Given the description of an element on the screen output the (x, y) to click on. 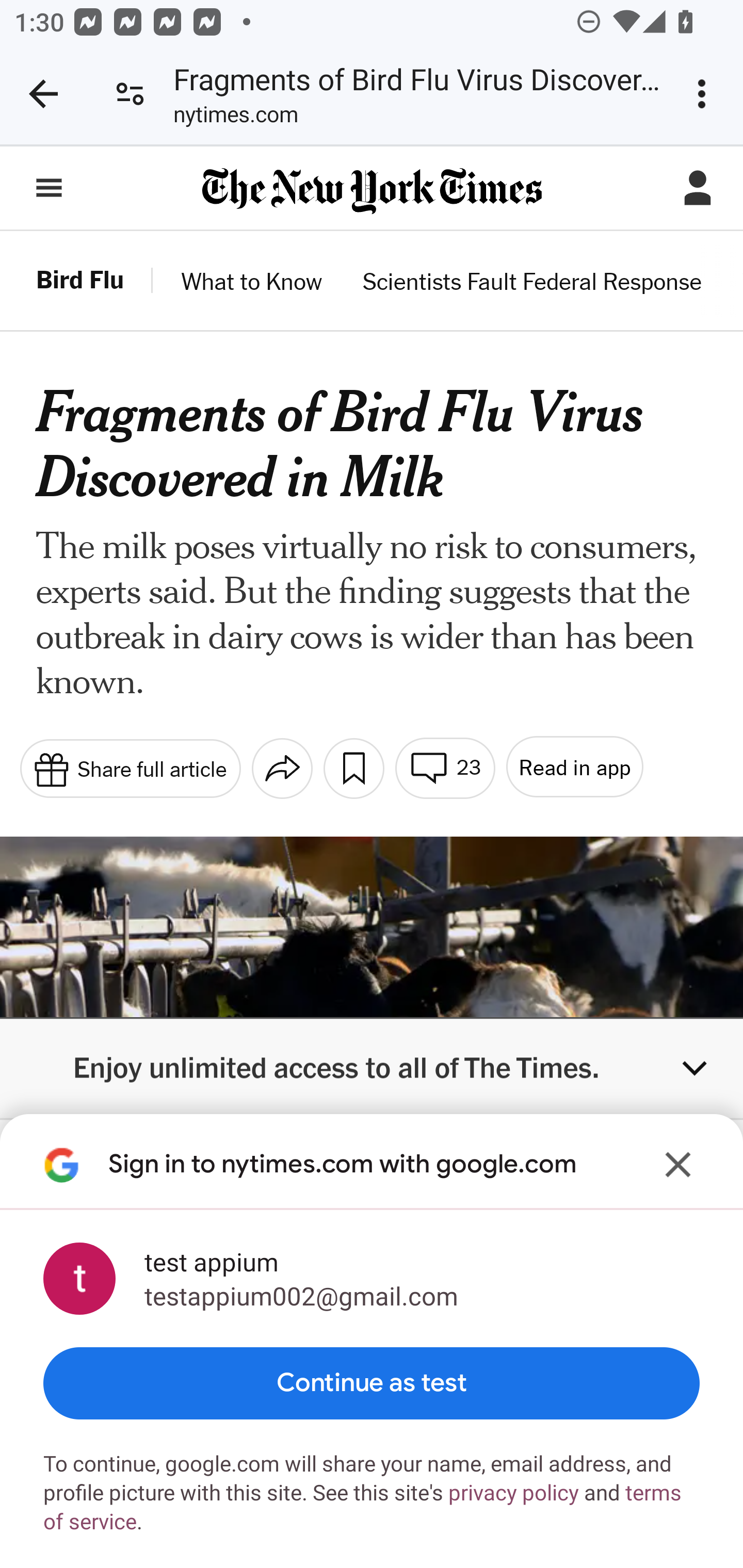
Close tab (43, 93)
Customize and control Google Chrome (705, 93)
Connection is secure (129, 93)
nytimes.com (235, 117)
SEARCH & SECTION NAVIGATION (48, 187)
Log in (697, 187)
New York Times homepage (371, 191)
What to Know (251, 282)
Scientists Fault Federal Response (531, 282)
Read in app (574, 765)
More sharing options ... (282, 767)
Save article for reading later... (354, 767)
Read 23 comments (444, 767)
Share full article (129, 768)
Close (677, 1164)
test appium testappium002@gmail.com (371, 1278)
Continue as test (371, 1383)
